Given the description of an element on the screen output the (x, y) to click on. 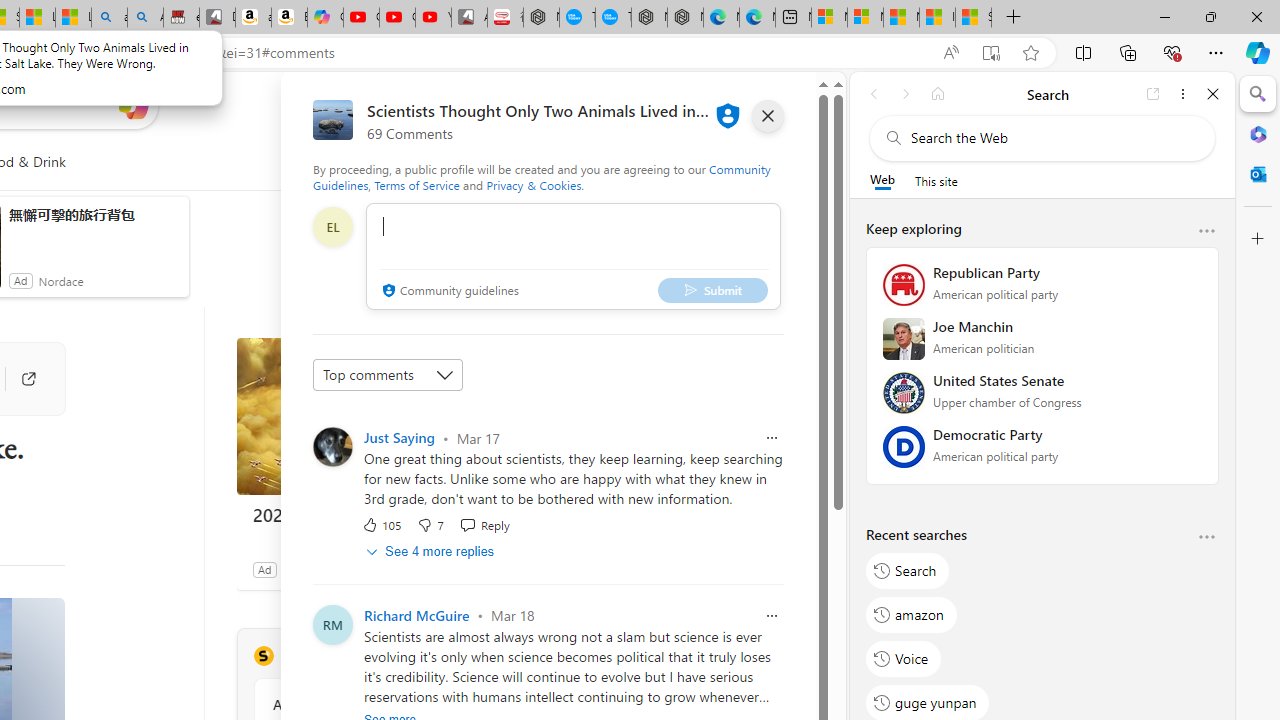
YouTube Kids - An App Created for Kids to Explore Content (433, 17)
amazon (911, 614)
Profile Picture (333, 624)
Democratic Party American political party (1042, 453)
Open Copilot (132, 105)
Open Copilot (132, 105)
United States Senate Upper chamber of Congress (1042, 399)
Personalize (488, 162)
Open link in new tab (1153, 93)
Go to publisher's site (18, 378)
Report comment (771, 615)
Reply Reply Comment (484, 524)
Search (1258, 94)
Amazon Echo Dot PNG - Search Images (145, 17)
